Given the description of an element on the screen output the (x, y) to click on. 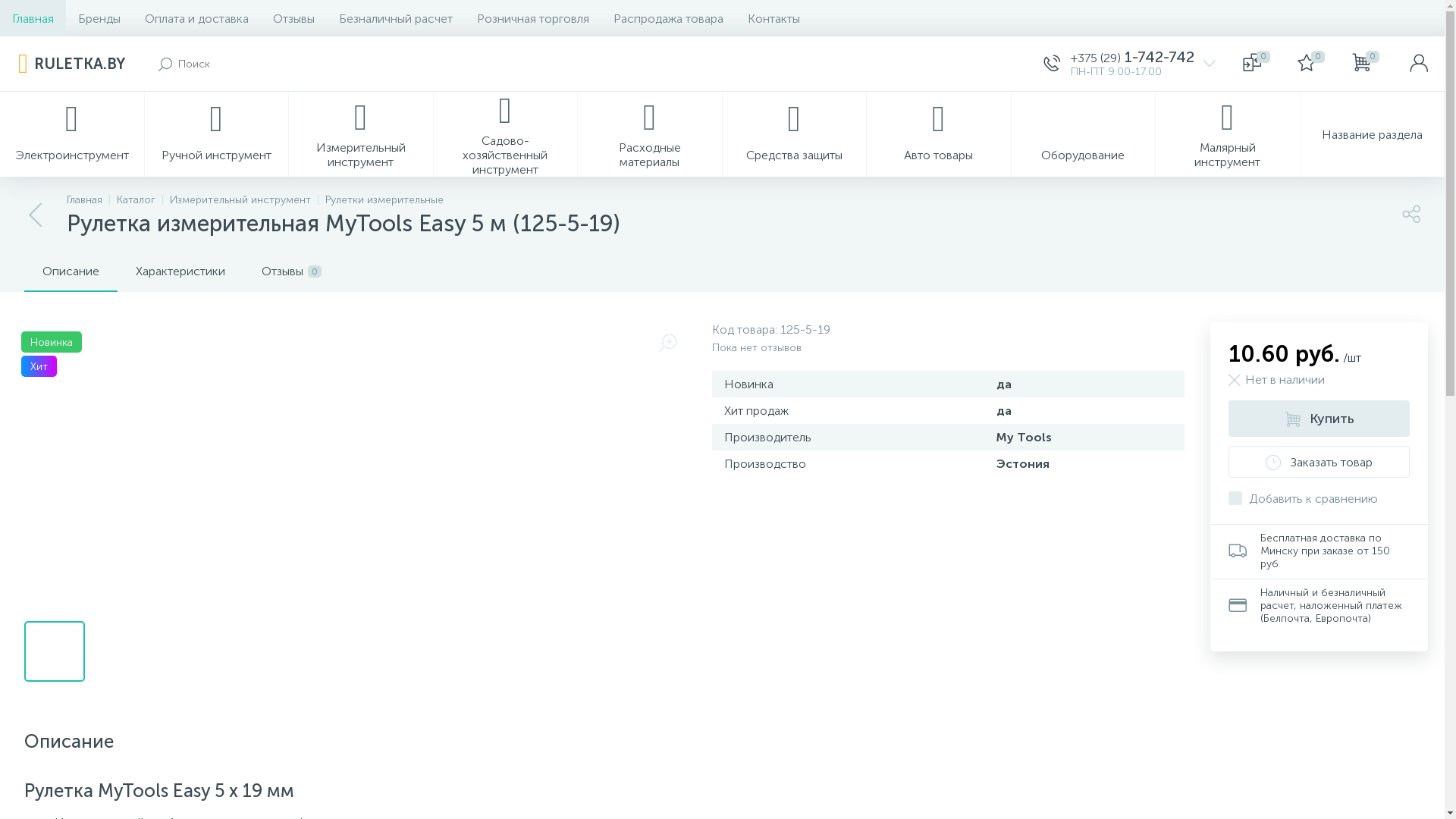
0 Element type: text (1310, 63)
0 Element type: text (1365, 63)
RULETKA.BY Element type: text (71, 63)
0 Element type: text (1256, 63)
